Given the description of an element on the screen output the (x, y) to click on. 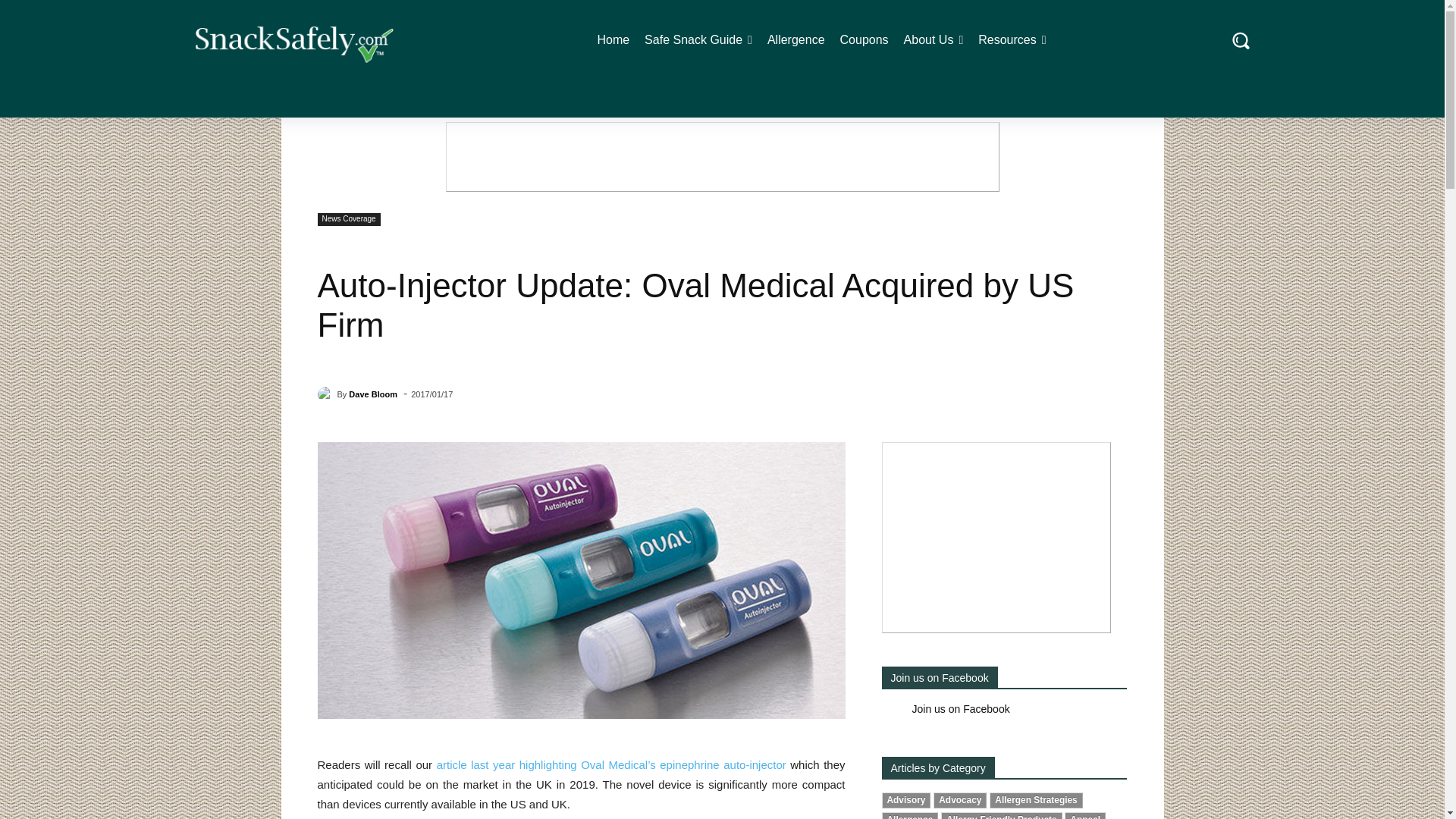
Dave Bloom (326, 394)
Safe Snack Guide (698, 40)
Home (613, 40)
